Given the description of an element on the screen output the (x, y) to click on. 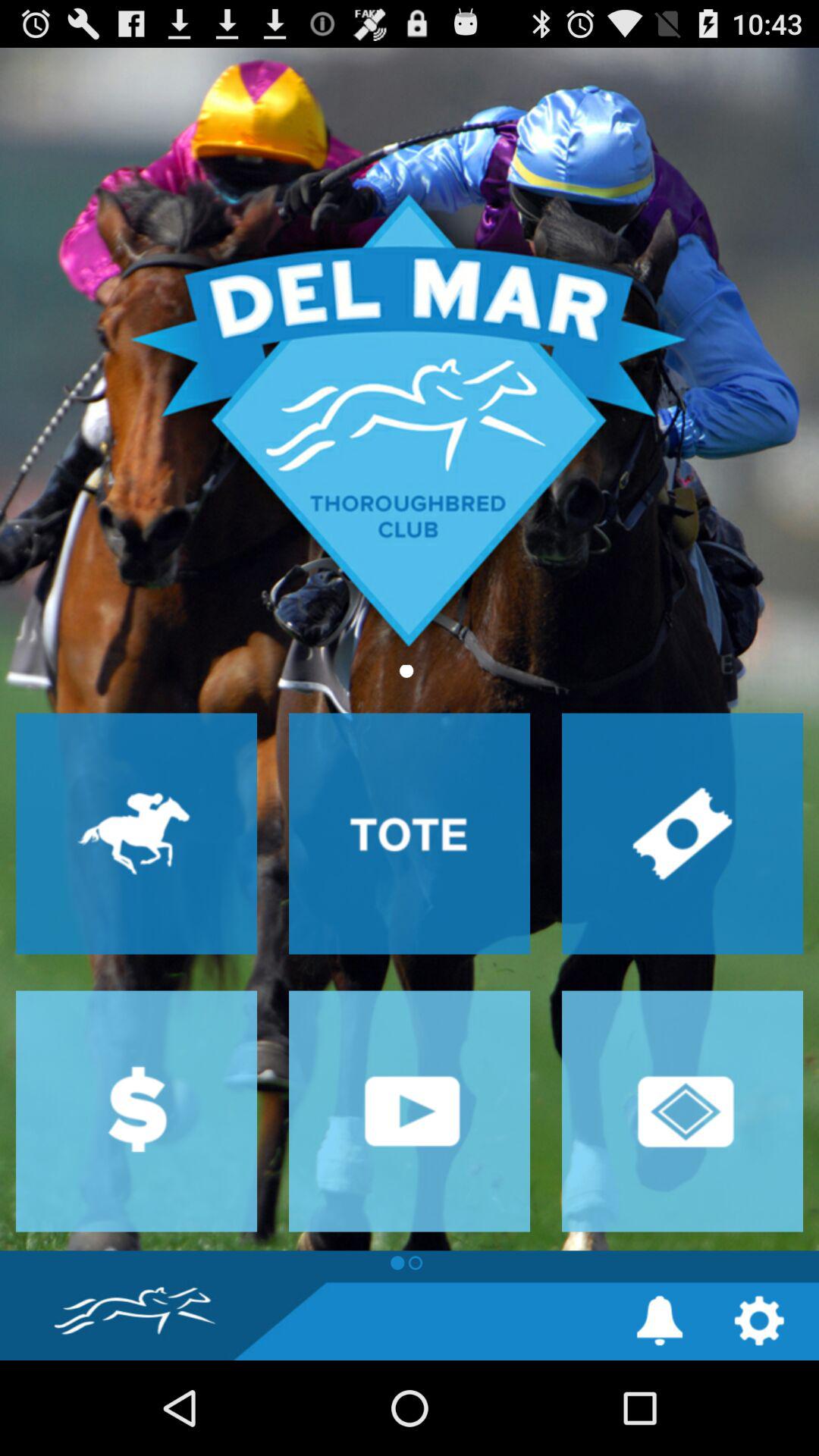
alarm (659, 1320)
